Given the description of an element on the screen output the (x, y) to click on. 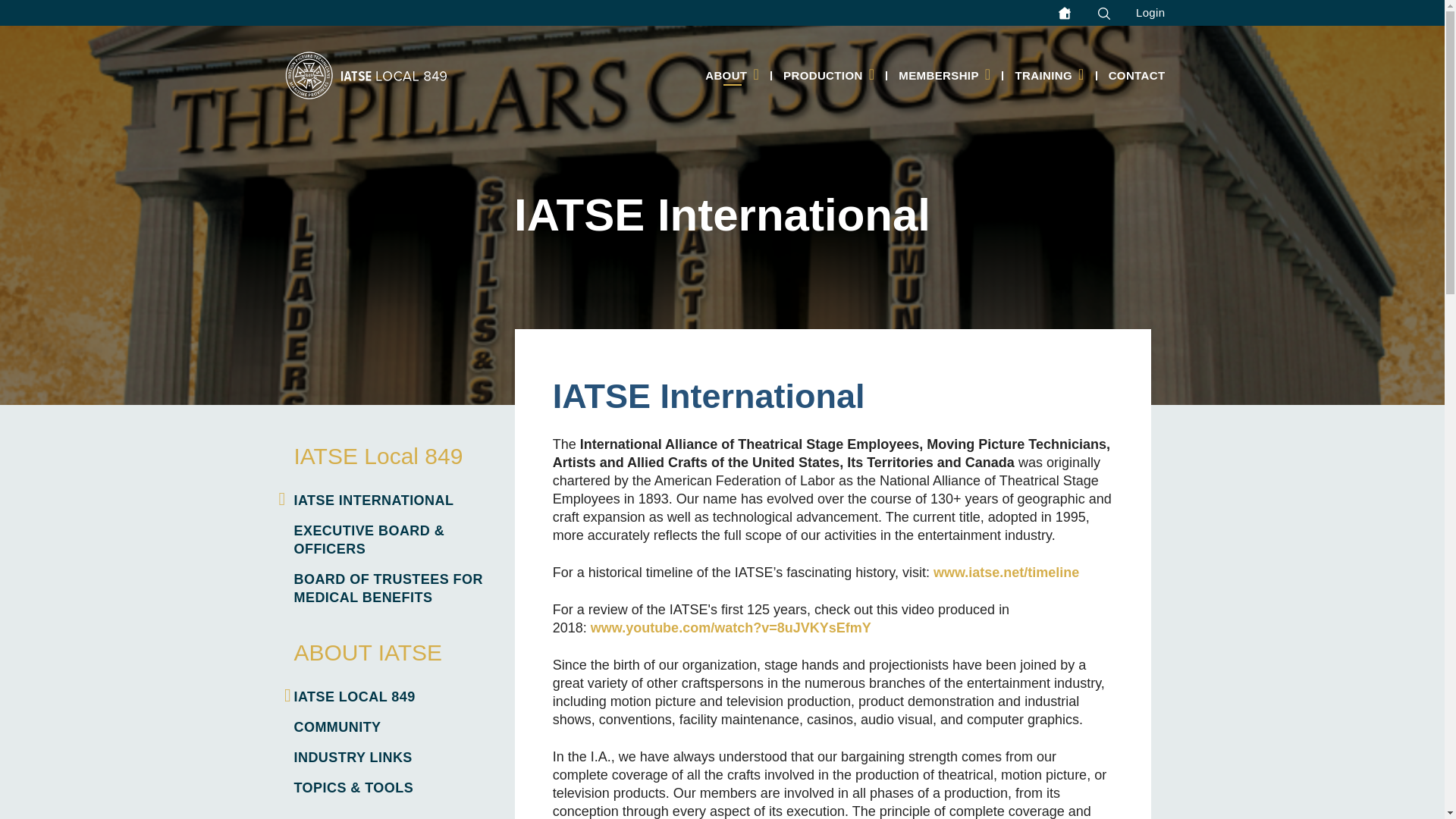
ABOUT (732, 75)
MEMBERSHIP (944, 75)
PRODUCTION (828, 75)
Login (1150, 13)
